Given the description of an element on the screen output the (x, y) to click on. 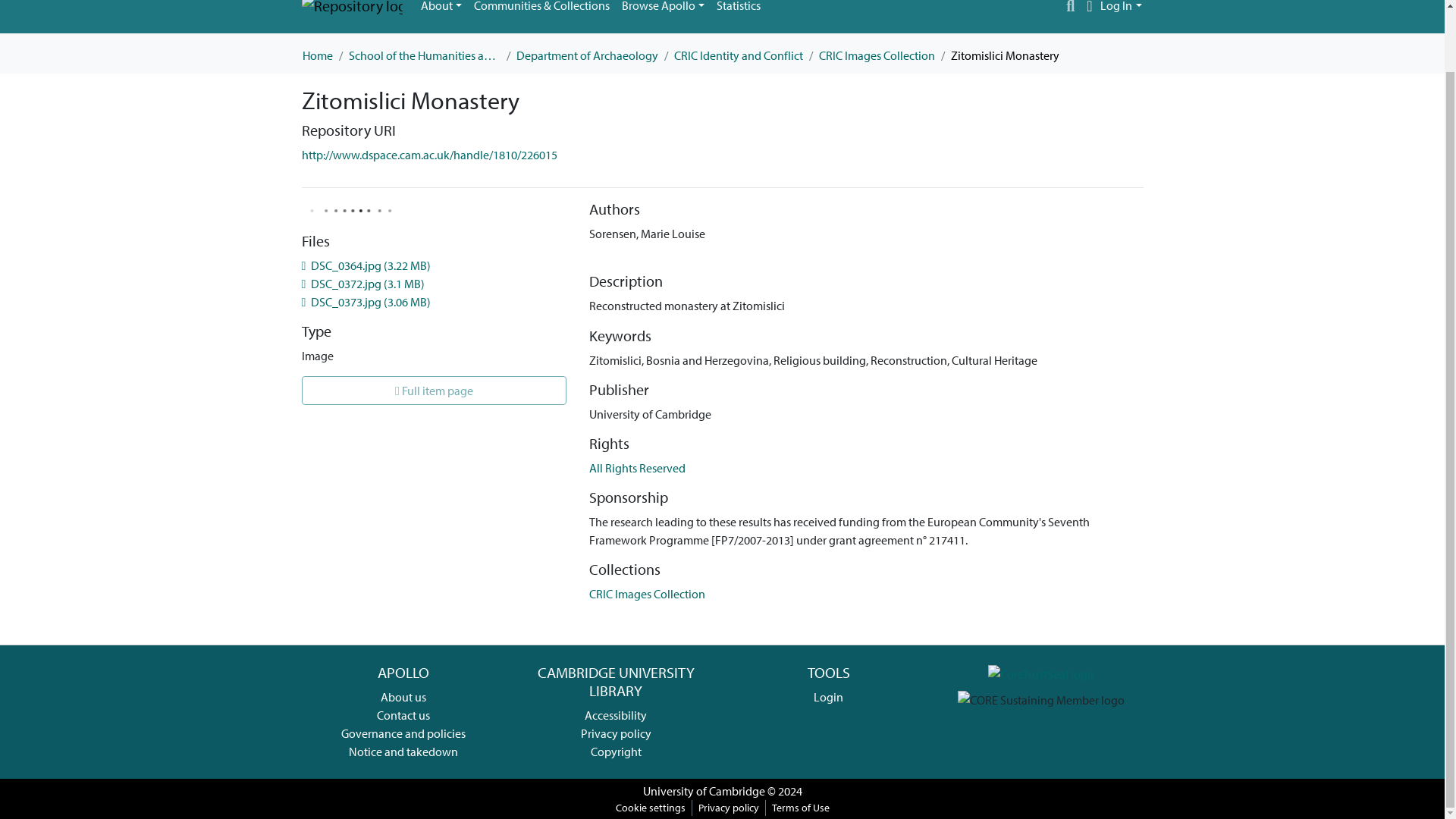
Apollo CTS full application (1041, 672)
Statistics (738, 10)
School of the Humanities and Social Sciences (424, 54)
CRIC Images Collection (876, 54)
Log In (1120, 6)
Contact us (403, 714)
Home (316, 54)
Copyright (616, 751)
Full item page (434, 389)
Notice and takedown (403, 751)
